Given the description of an element on the screen output the (x, y) to click on. 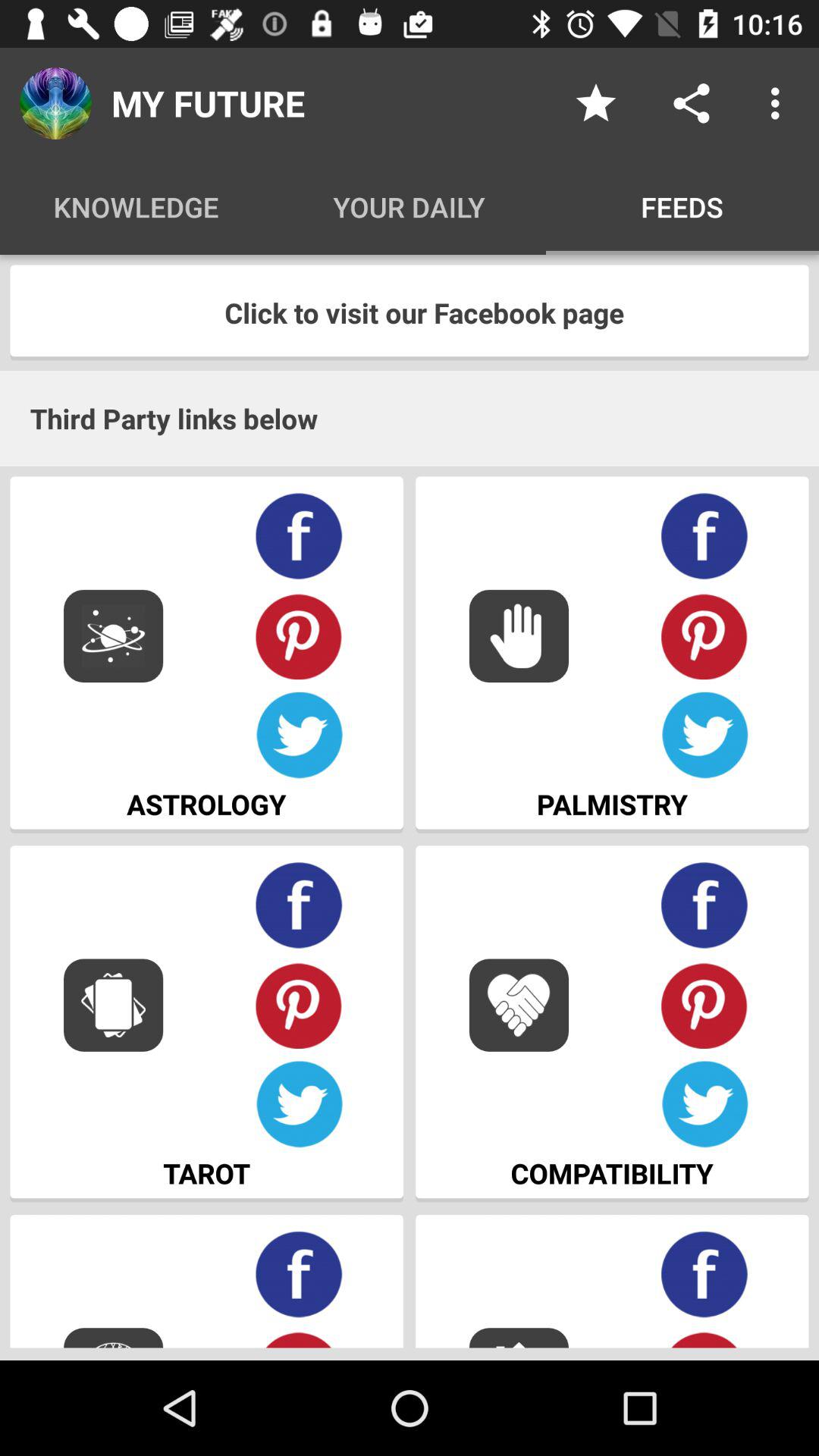
share on twitter (704, 735)
